Given the description of an element on the screen output the (x, y) to click on. 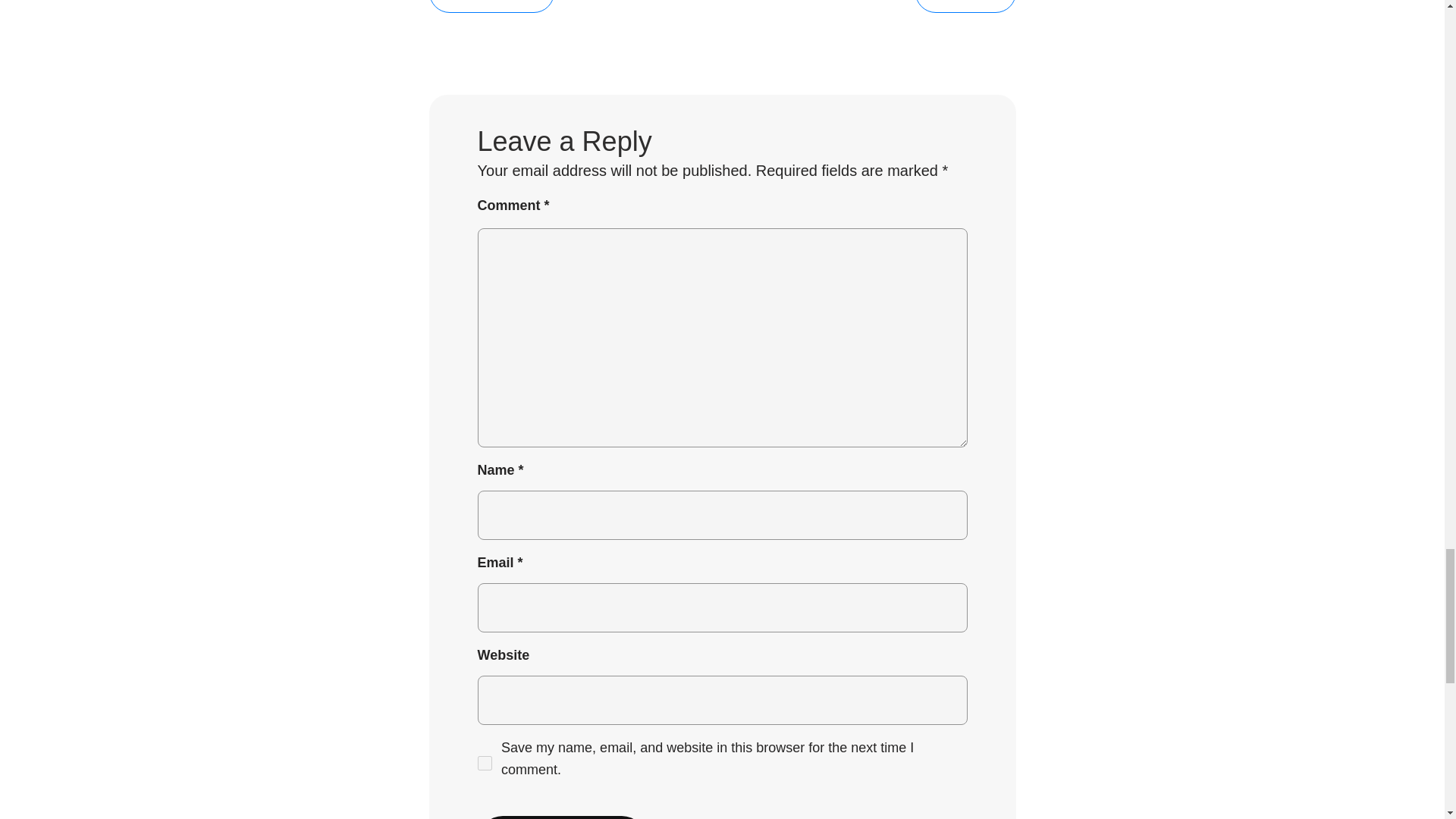
Post Comment (561, 817)
Previous (491, 6)
Next (965, 6)
Post Comment (561, 817)
